Given the description of an element on the screen output the (x, y) to click on. 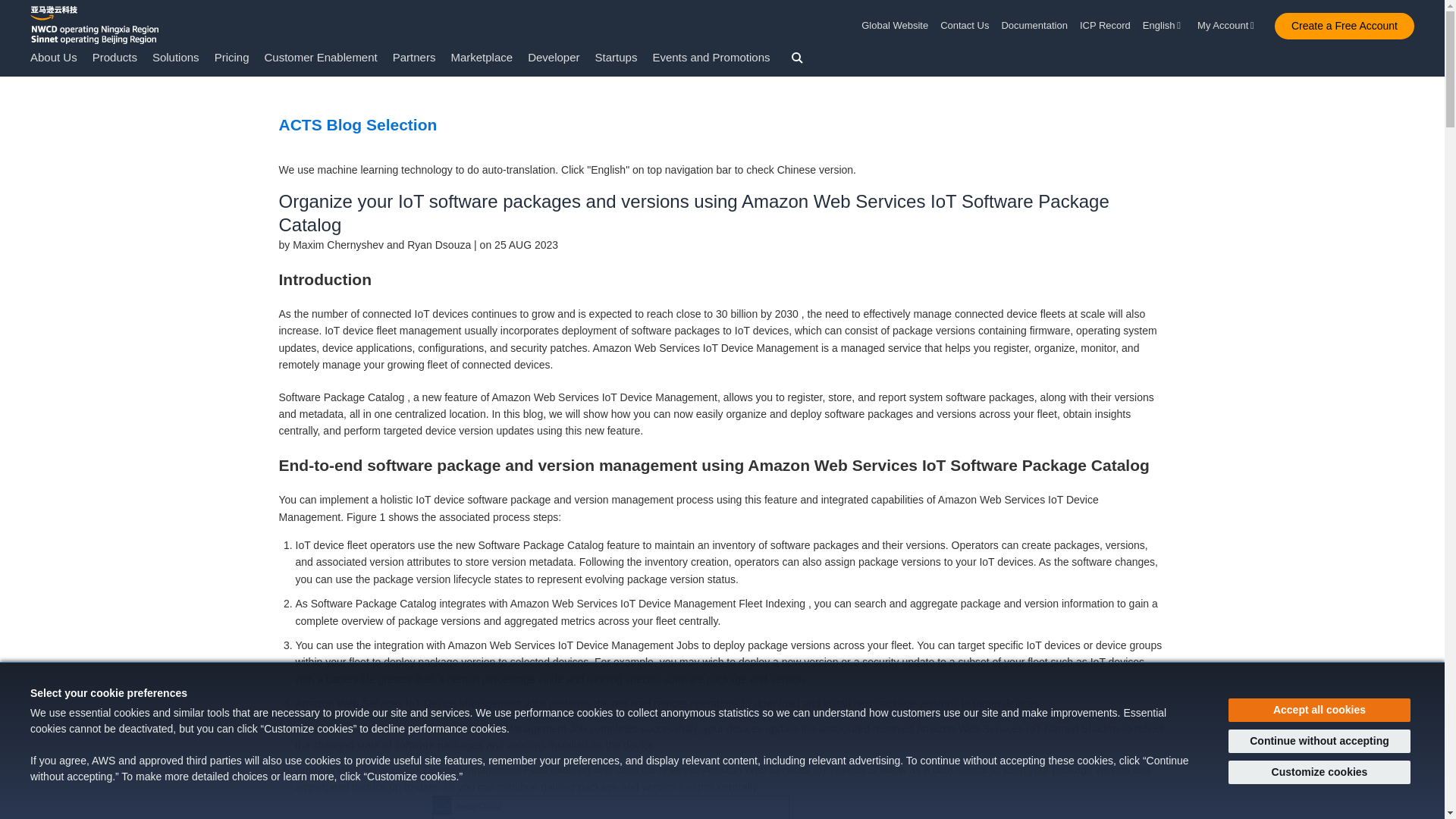
Skip to main content (7, 83)
Marketplace (480, 56)
My Account  (1228, 26)
Customer Enablement (320, 56)
Partners (414, 56)
Events and Promotions (711, 56)
Startups (616, 56)
Products (114, 56)
Continue without accepting (1319, 740)
Solutions (175, 56)
Global Website (897, 26)
Create a Free Account (1344, 25)
Contact Us (964, 26)
Documentation (1033, 26)
